Given the description of an element on the screen output the (x, y) to click on. 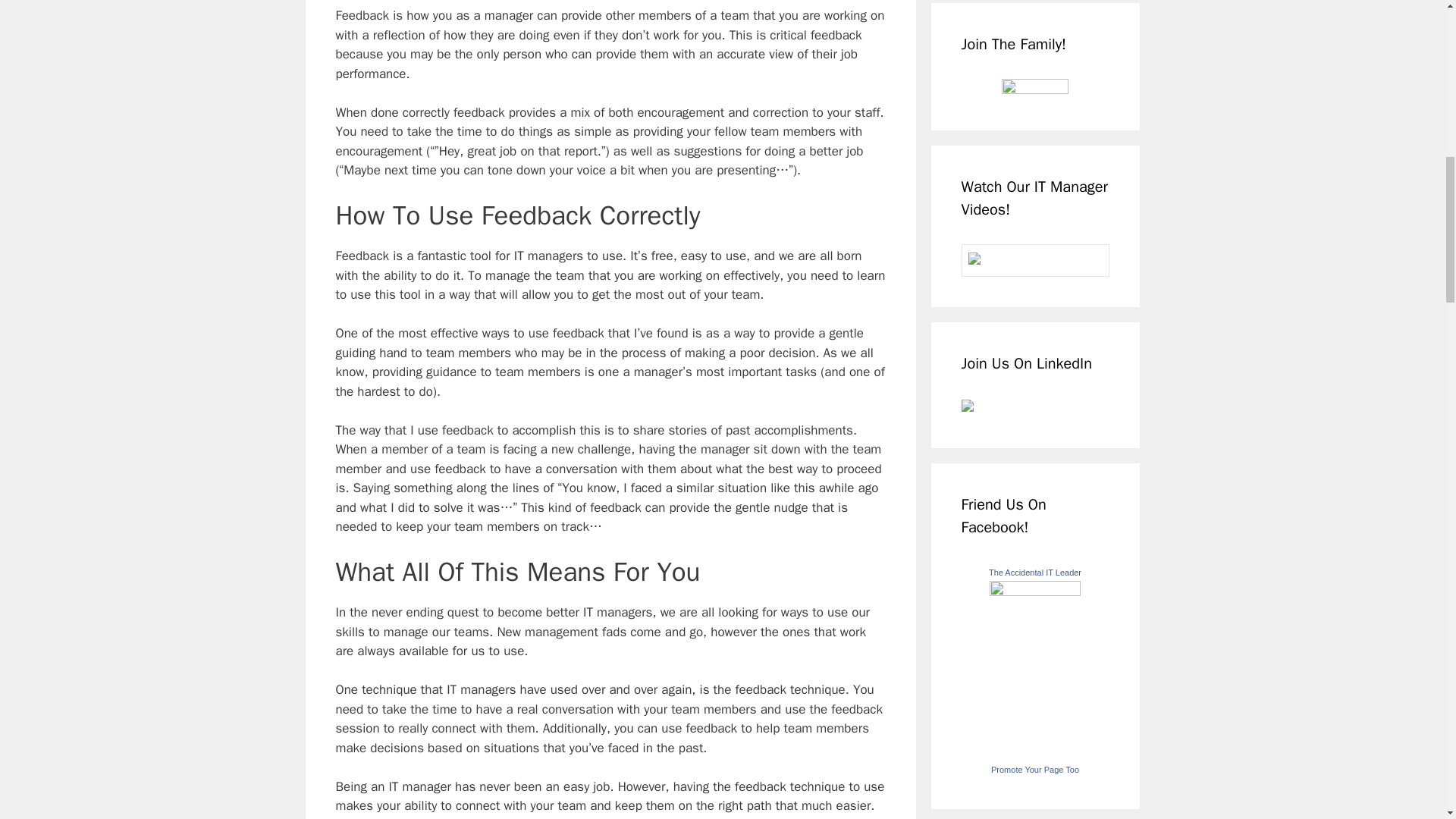
The Accidental IT Leader (1034, 572)
Make your own badge! (1034, 768)
The Accidental IT Leader (1035, 591)
